Given the description of an element on the screen output the (x, y) to click on. 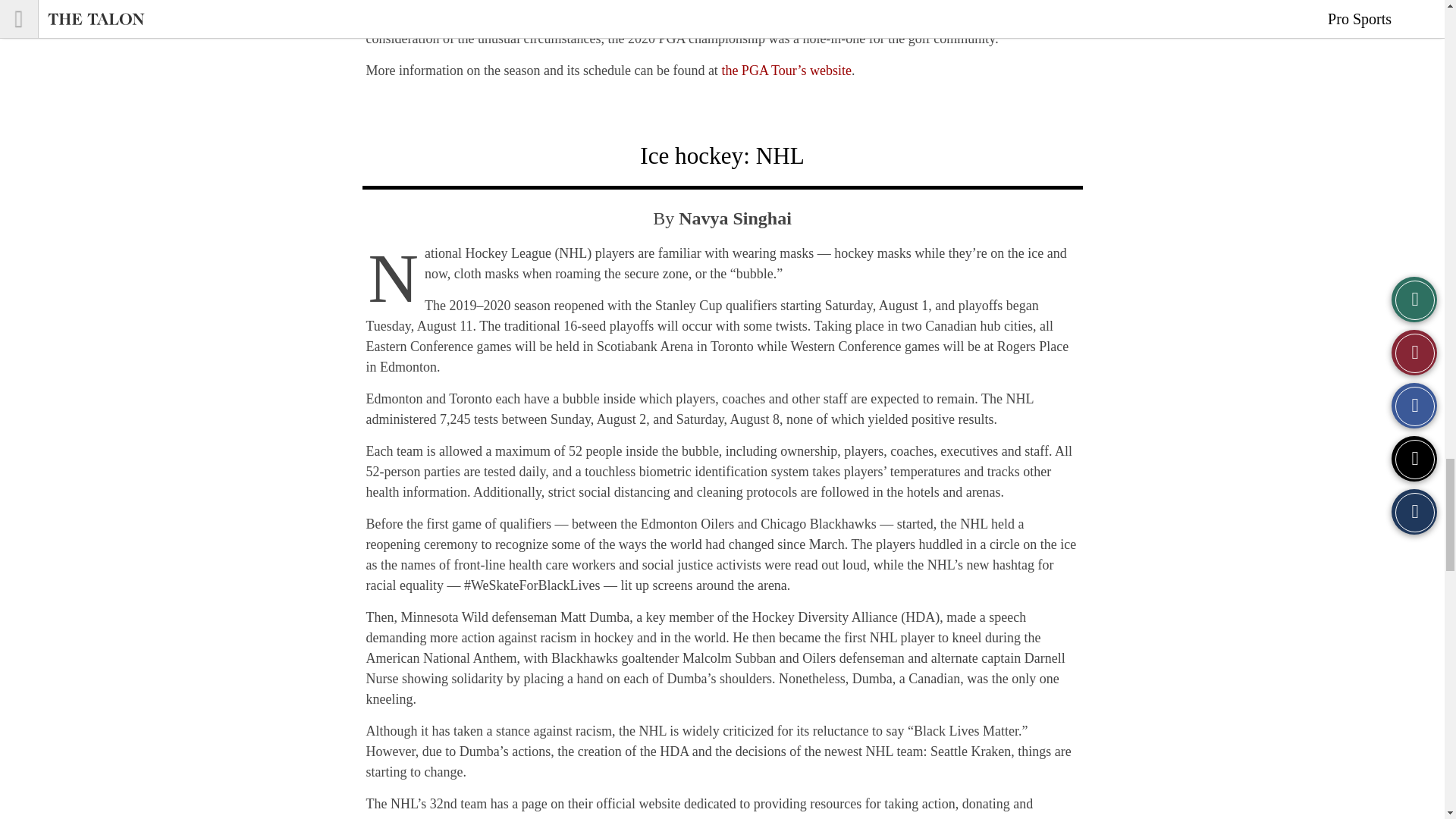
Navya Singhai (735, 218)
